Given the description of an element on the screen output the (x, y) to click on. 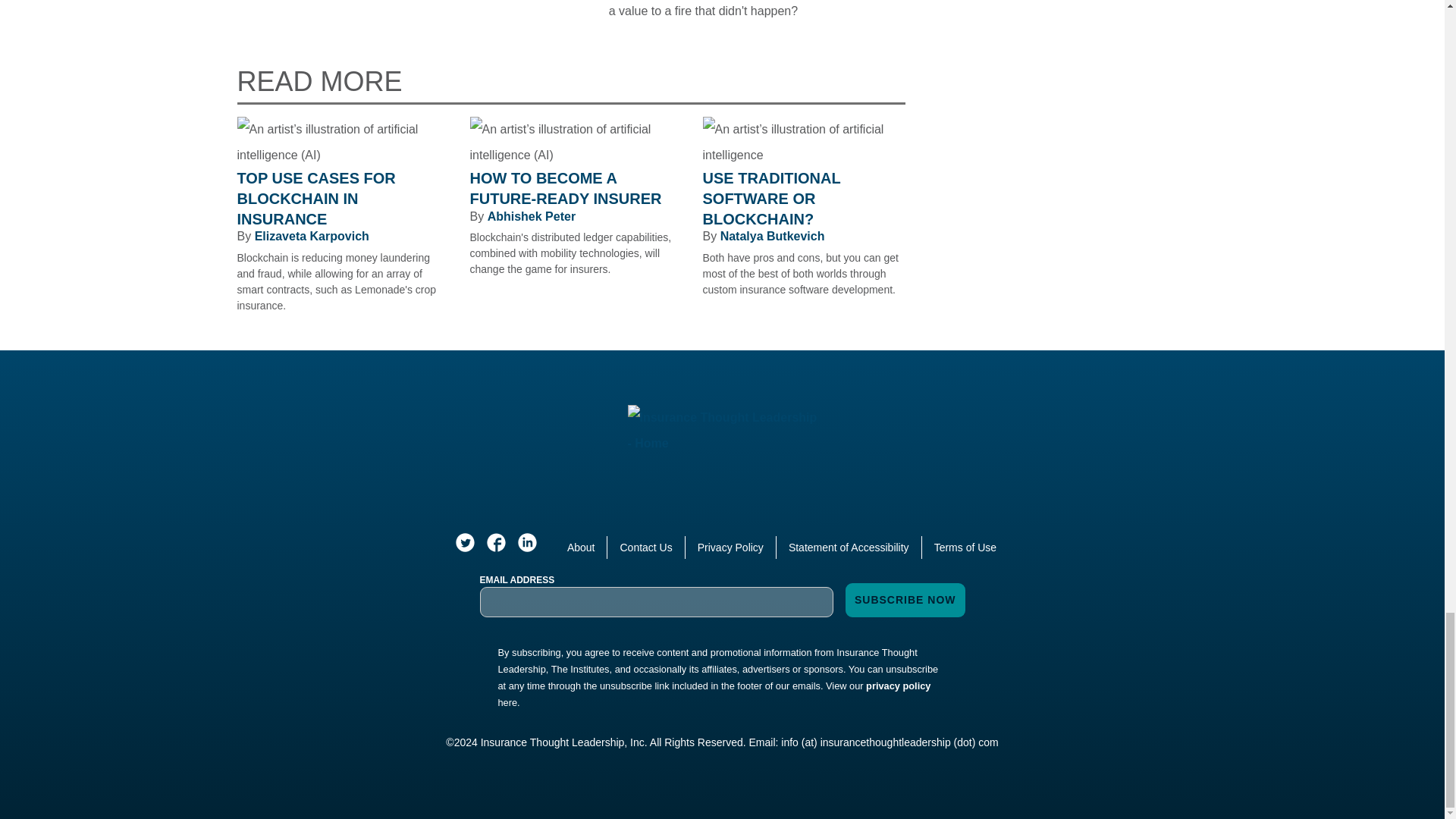
Subscribe Now (905, 600)
